Given the description of an element on the screen output the (x, y) to click on. 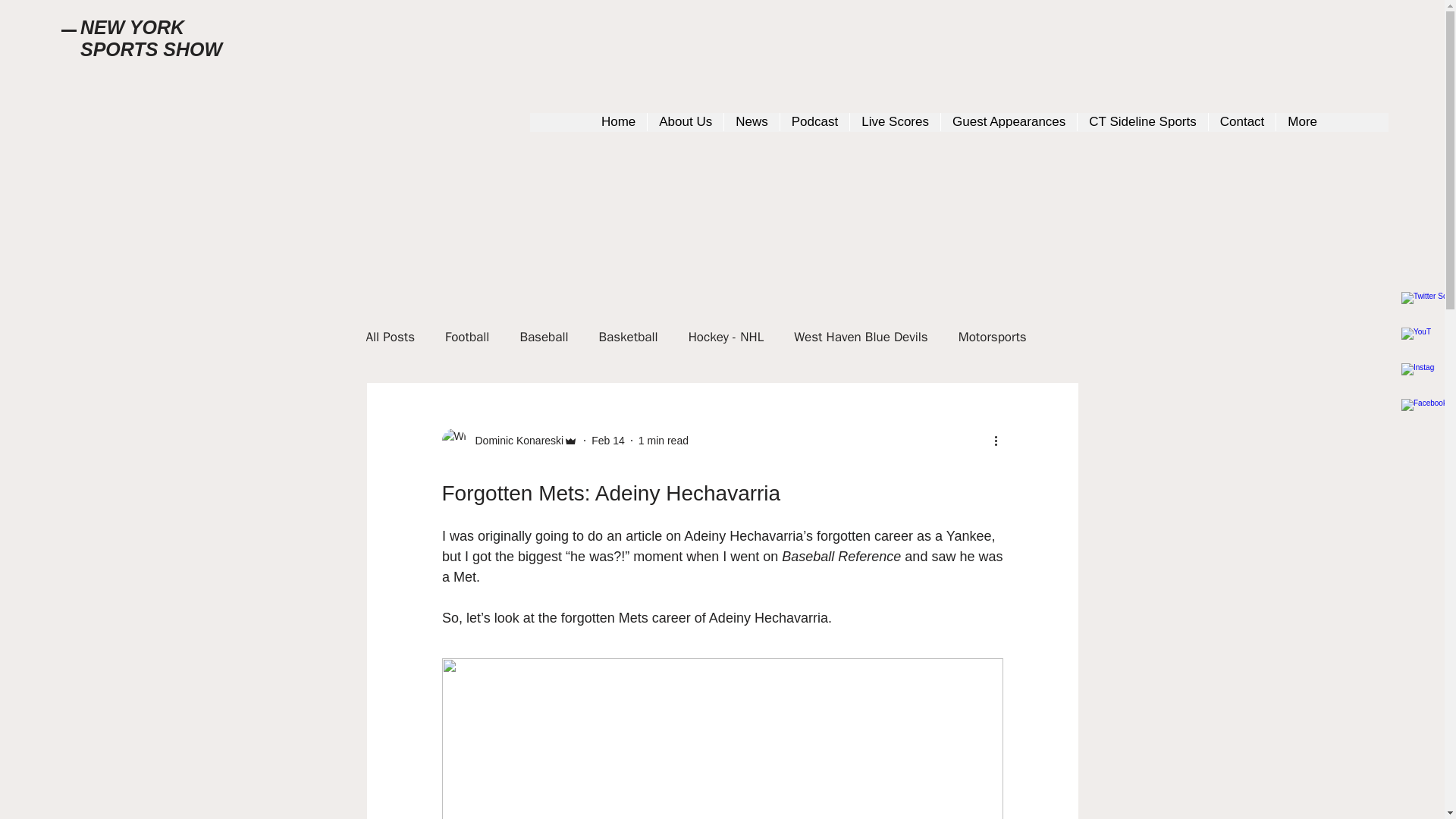
Contact (1242, 122)
West Haven Blue Devils (860, 335)
About Us (684, 122)
Guest Appearances (1008, 122)
1 min read (663, 439)
Baseball (543, 335)
Football (467, 335)
Feb 14 (607, 439)
Home (617, 122)
Dominic Konareski (514, 439)
Basketball (628, 335)
Podcast (813, 122)
All Posts (389, 335)
Motorsports (992, 335)
CT Sideline Sports (1142, 122)
